Given the description of an element on the screen output the (x, y) to click on. 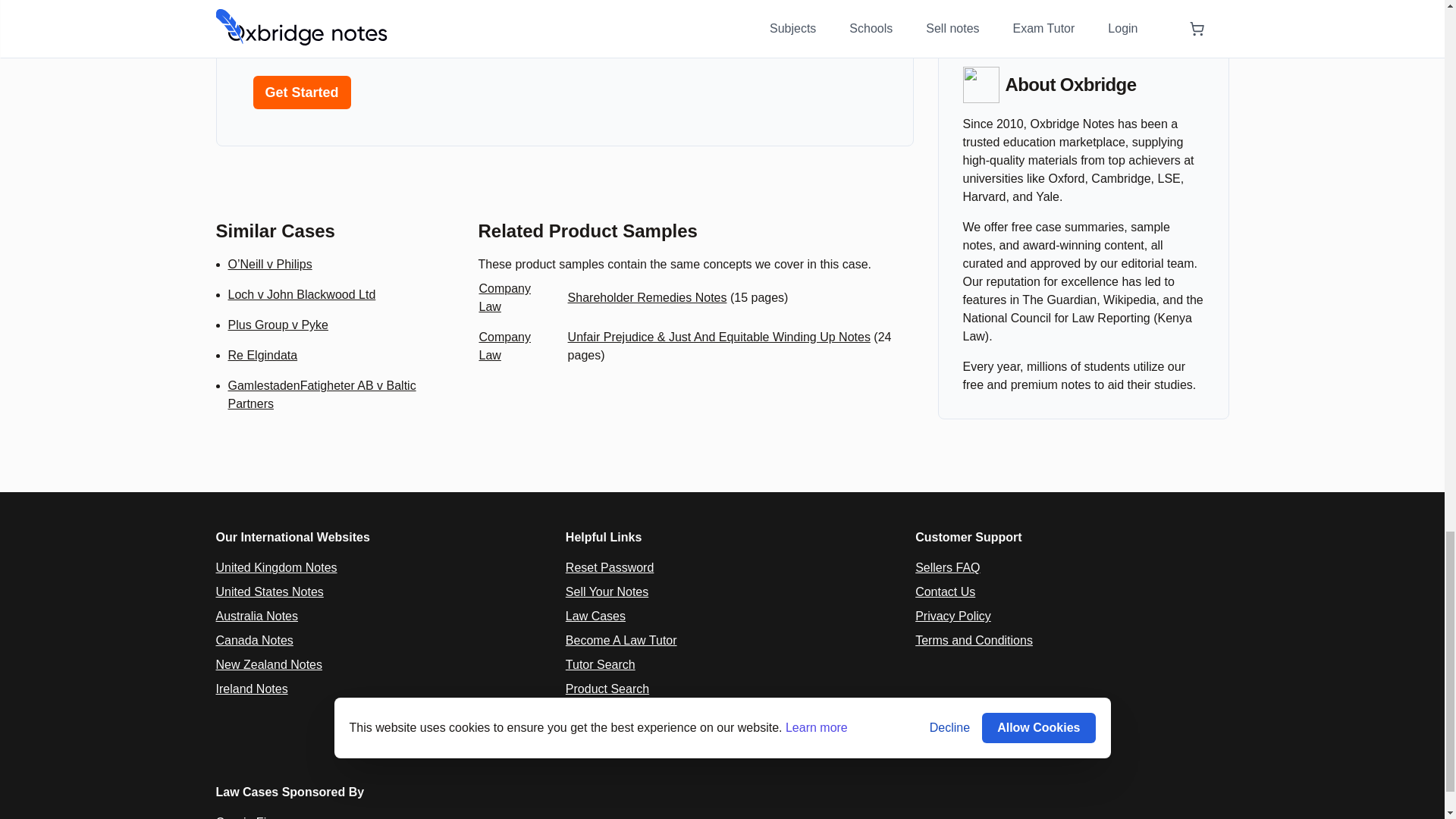
Get Started (301, 92)
Re Elgindata (262, 354)
Australia Notes (256, 615)
Loch v John Blackwood Ltd (301, 294)
Company Law (504, 296)
Company Law (504, 345)
United Kingdom Notes (275, 567)
GamlestadenFatigheter AB v Baltic Partners (320, 394)
Canada Notes (253, 640)
United States Notes (269, 591)
